Given the description of an element on the screen output the (x, y) to click on. 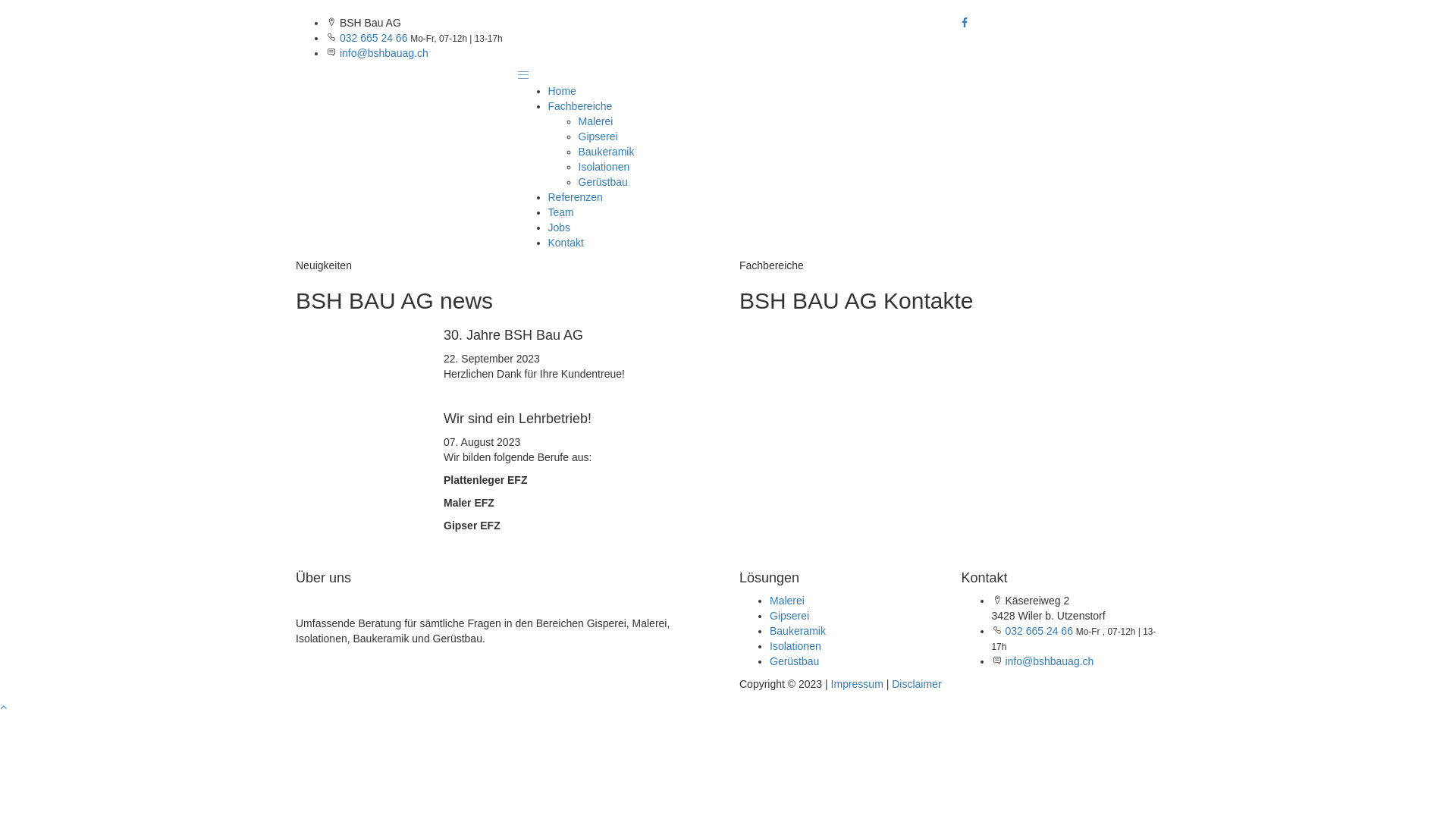
info@bshbauag.ch Element type: text (383, 53)
Impressum Element type: text (857, 683)
032 665 24 66 Element type: text (373, 37)
Isolationen Element type: text (795, 646)
Malerei Element type: text (786, 600)
Malerei Element type: text (594, 121)
Kontakt Element type: text (565, 242)
Gipserei Element type: text (597, 136)
Team Element type: text (560, 212)
Fachbereiche Element type: text (579, 106)
Gipserei Element type: text (789, 615)
Jobs Element type: text (558, 227)
Baukeramik Element type: text (605, 151)
Home Element type: text (561, 90)
Disclaimer Element type: text (916, 683)
Isolationen Element type: text (603, 166)
info@bshbauag.ch Element type: text (1048, 661)
032 665 24 66 Element type: text (1038, 630)
Referenzen Element type: text (574, 197)
Baukeramik Element type: text (797, 630)
